Given the description of an element on the screen output the (x, y) to click on. 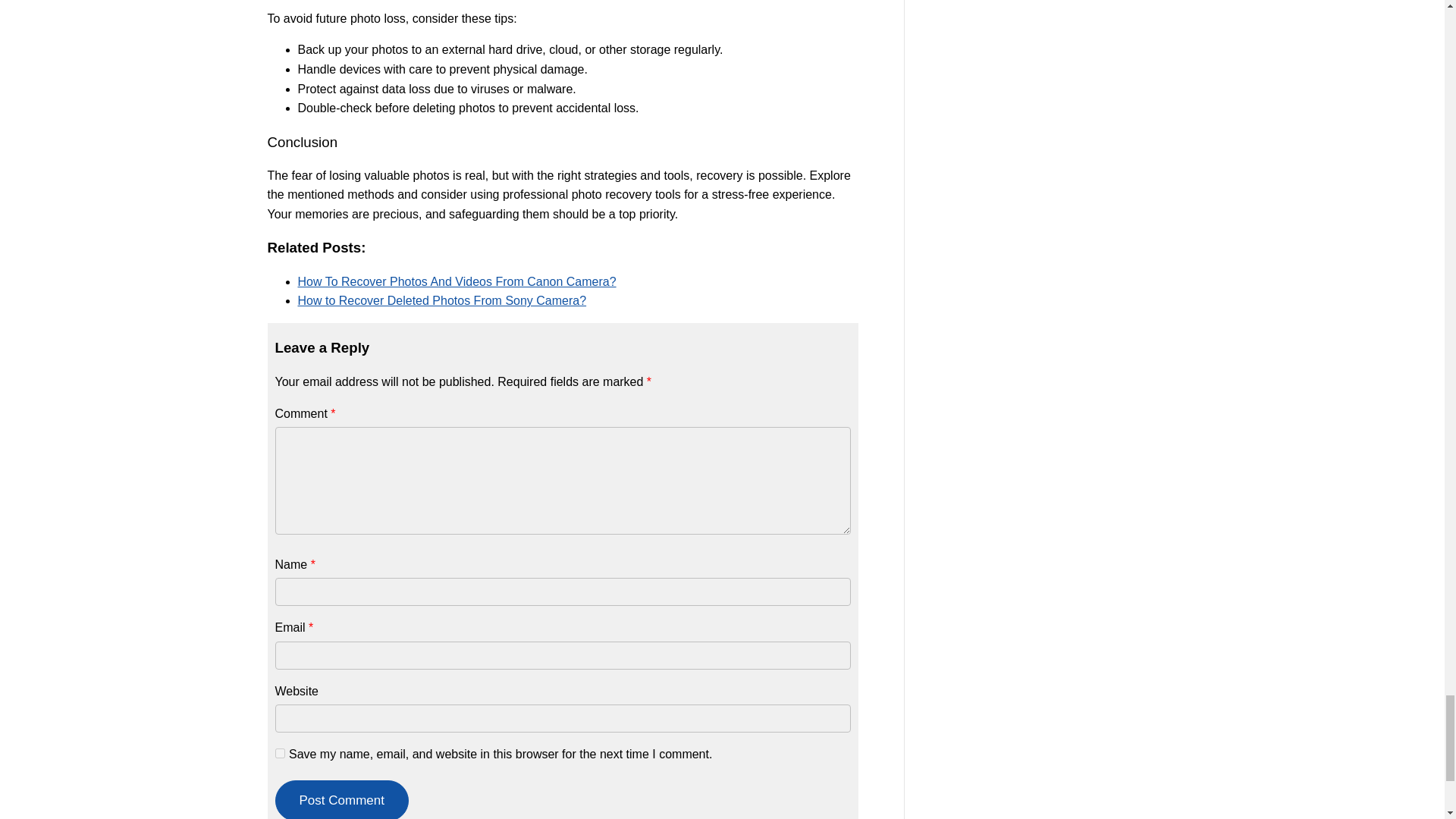
Post Comment (341, 799)
How to Recover Deleted Photos From Sony Camera? (441, 300)
yes (279, 753)
How To Recover Photos And Videos From Canon Camera? (456, 281)
